Given the description of an element on the screen output the (x, y) to click on. 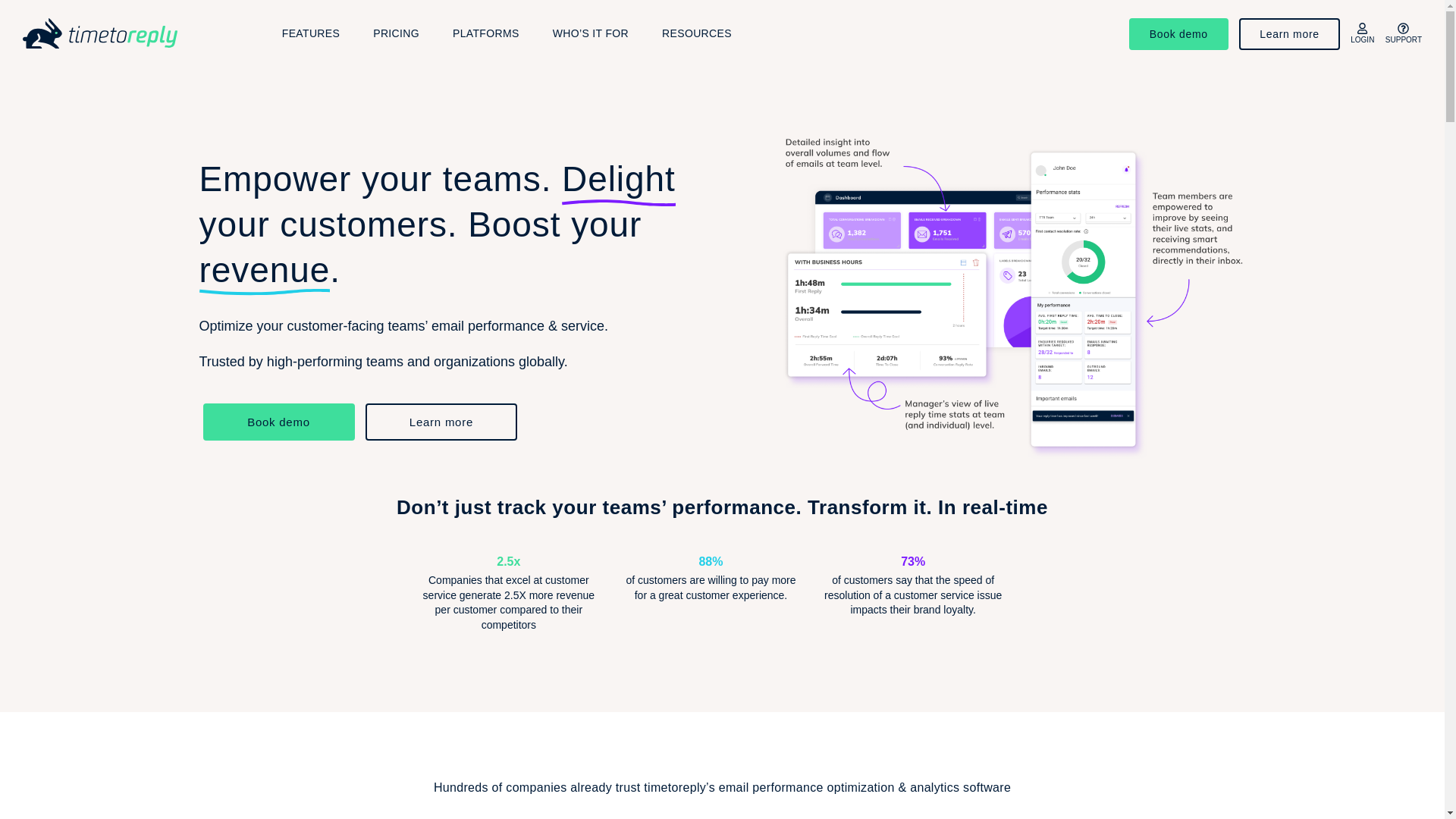
Book demo (1178, 33)
Learn more (1289, 33)
FEATURES (311, 33)
PRICING (395, 33)
Learn more (440, 421)
RESOURCES (696, 33)
LOGIN (1362, 33)
Book demo (279, 421)
Book demo (1178, 33)
PLATFORMS (486, 33)
